Given the description of an element on the screen output the (x, y) to click on. 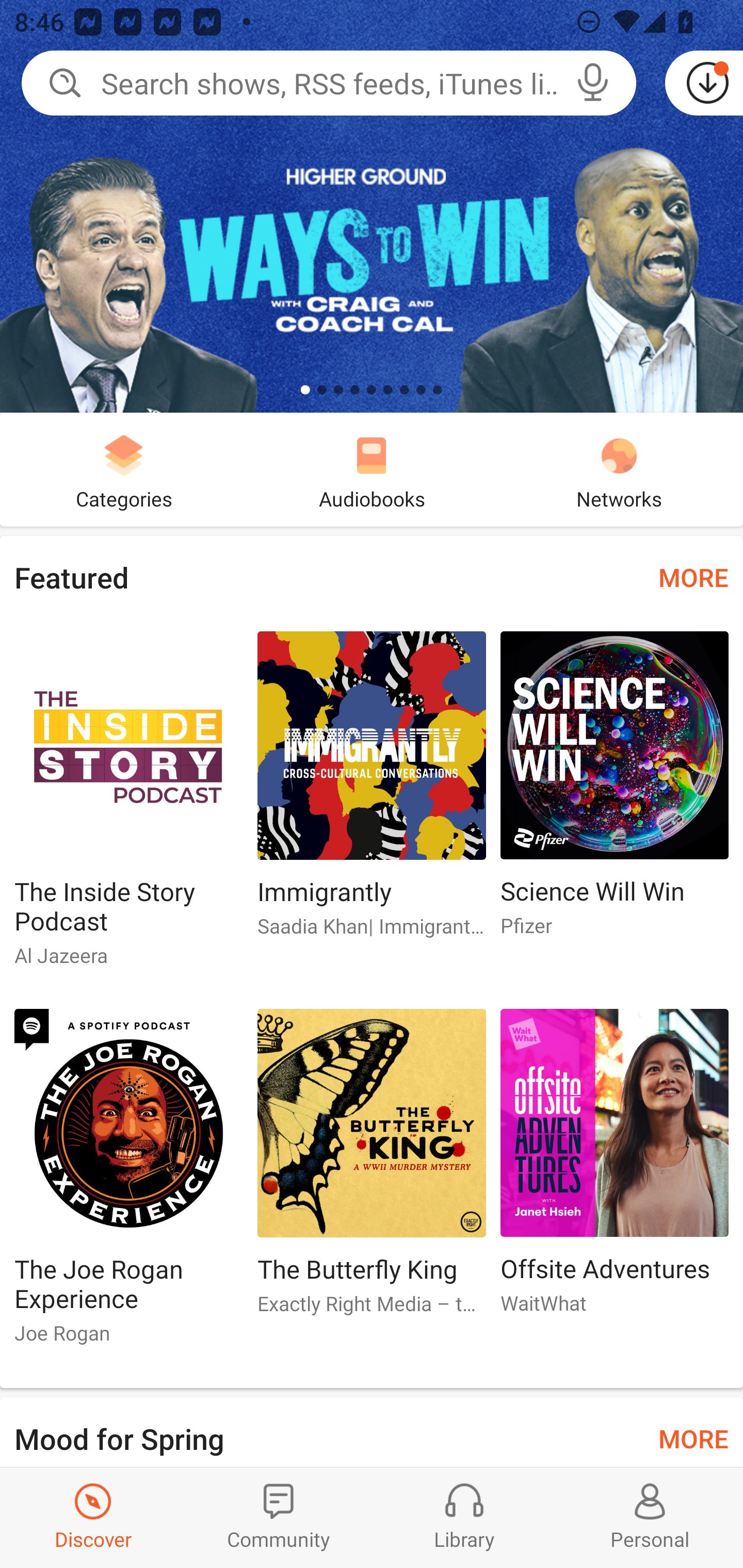
Ways To Win (371, 206)
Categories (123, 469)
Audiobooks (371, 469)
Networks (619, 469)
MORE (693, 576)
Science Will Win Science Will Win Pfizer (614, 792)
Offsite Adventures Offsite Adventures WaitWhat (614, 1169)
MORE (693, 1436)
Discover (92, 1517)
Community (278, 1517)
Library (464, 1517)
Profiles and Settings Personal (650, 1517)
